Given the description of an element on the screen output the (x, y) to click on. 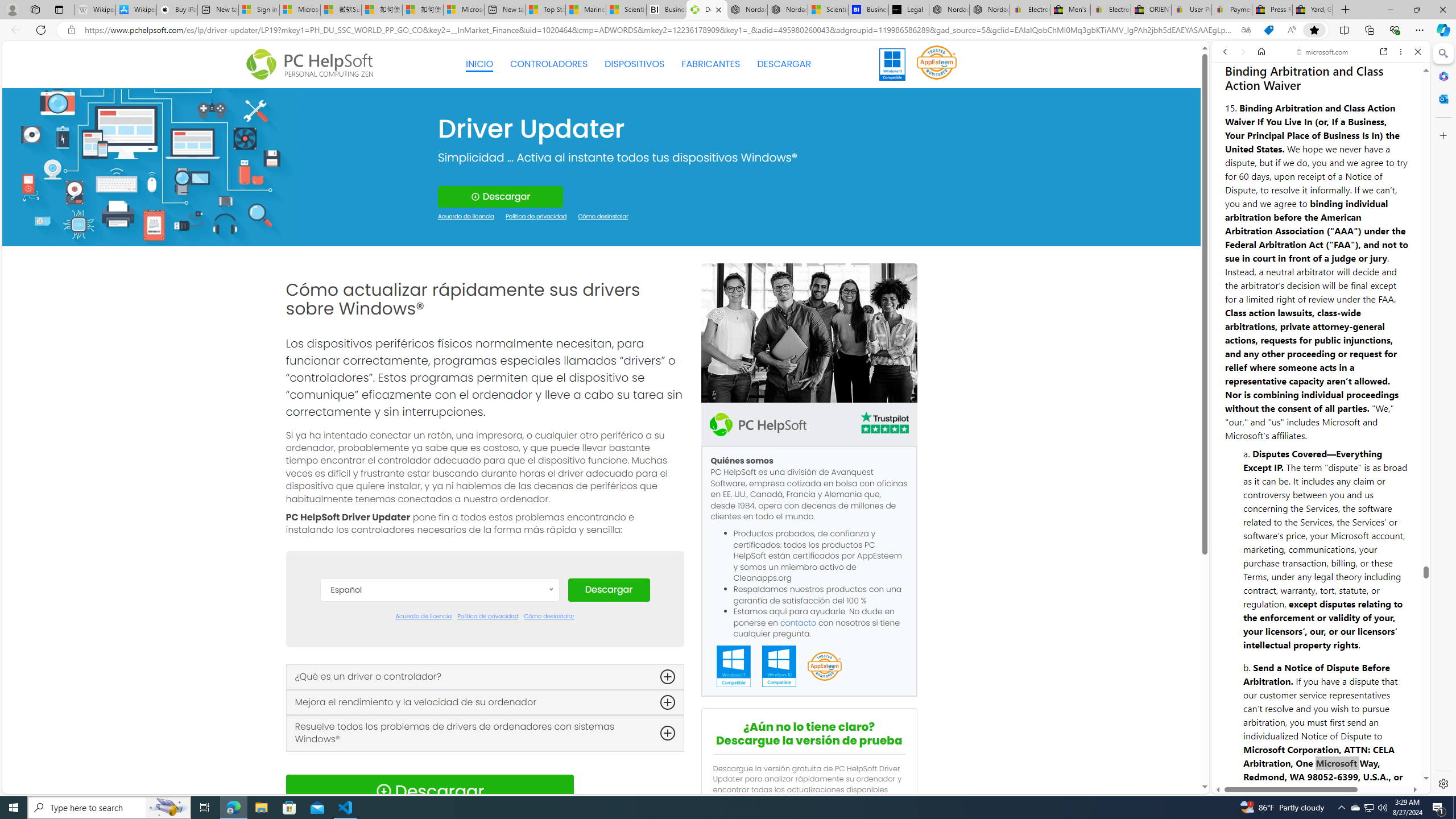
Dansk (439, 643)
App Esteem (823, 666)
Open in New Tab (1321, 768)
Generic (150, 166)
Acuerdo de licencia (423, 615)
Logo Personal Computing (313, 64)
